Given the description of an element on the screen output the (x, y) to click on. 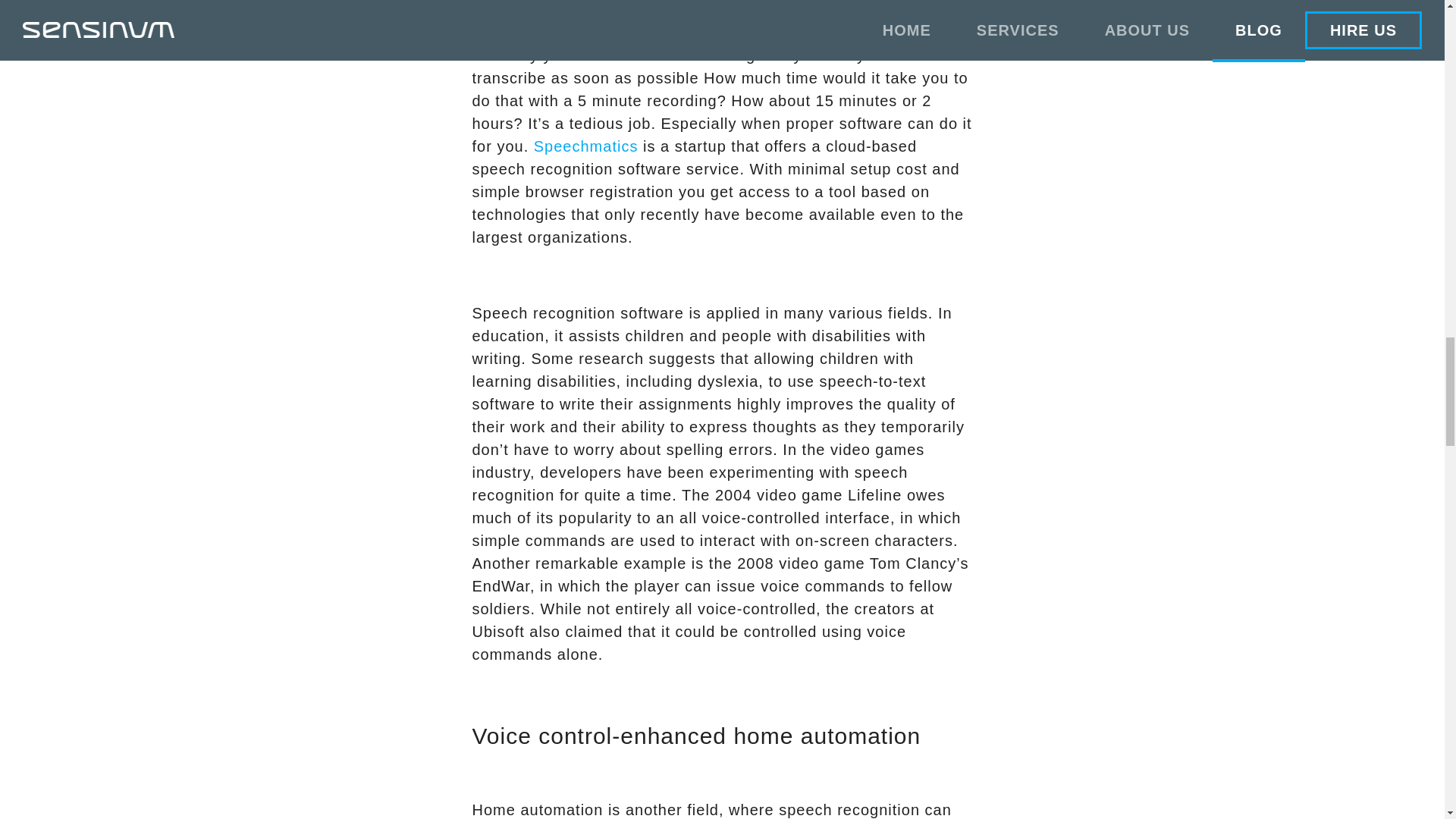
Speechmatics (588, 146)
